Given the description of an element on the screen output the (x, y) to click on. 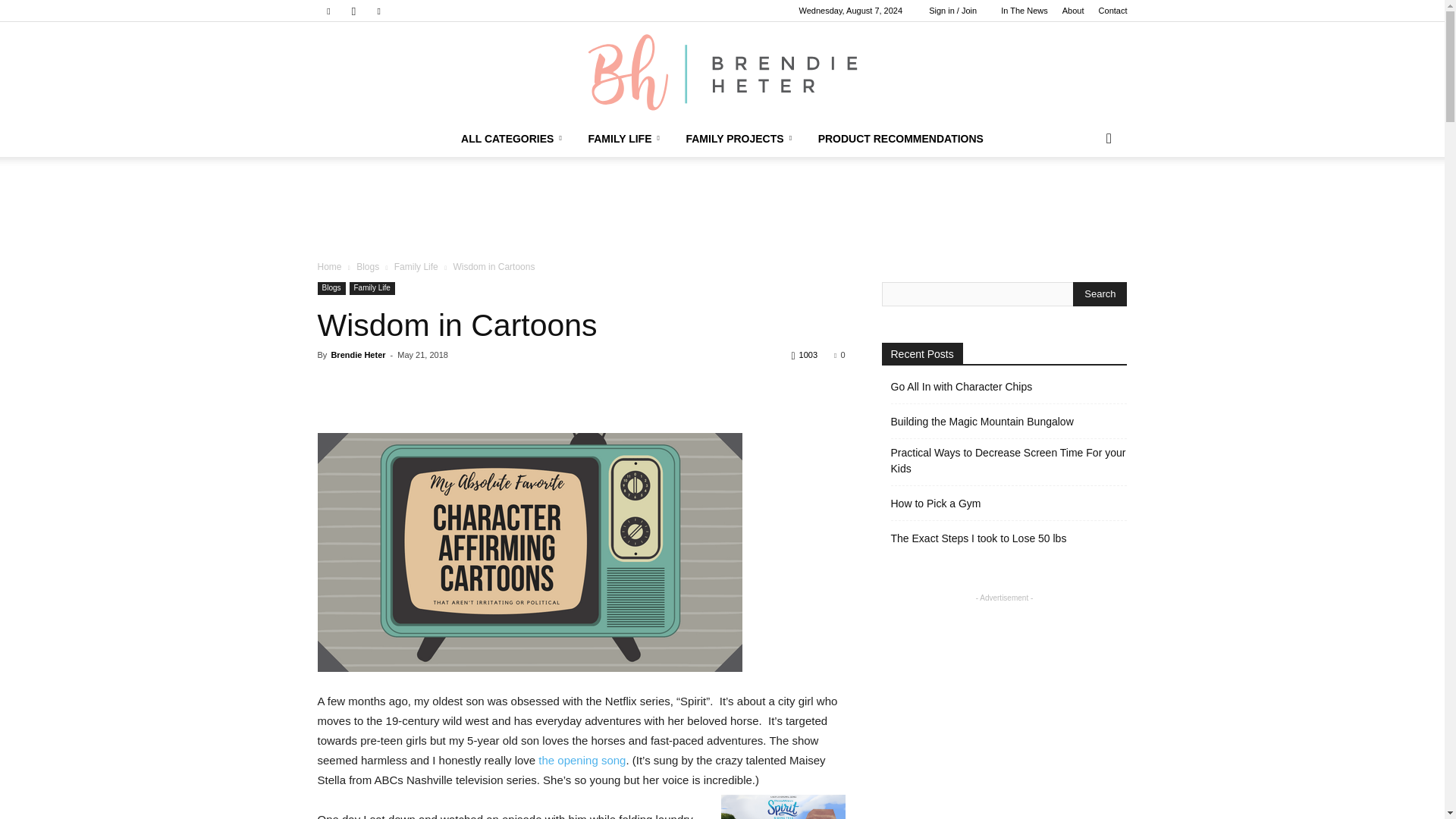
Youtube (379, 10)
ALL CATEGORIES (512, 138)
Facebook (328, 10)
Contact (1112, 10)
In The News (1024, 10)
Search (1099, 293)
About (1073, 10)
Instagram (353, 10)
